Given the description of an element on the screen output the (x, y) to click on. 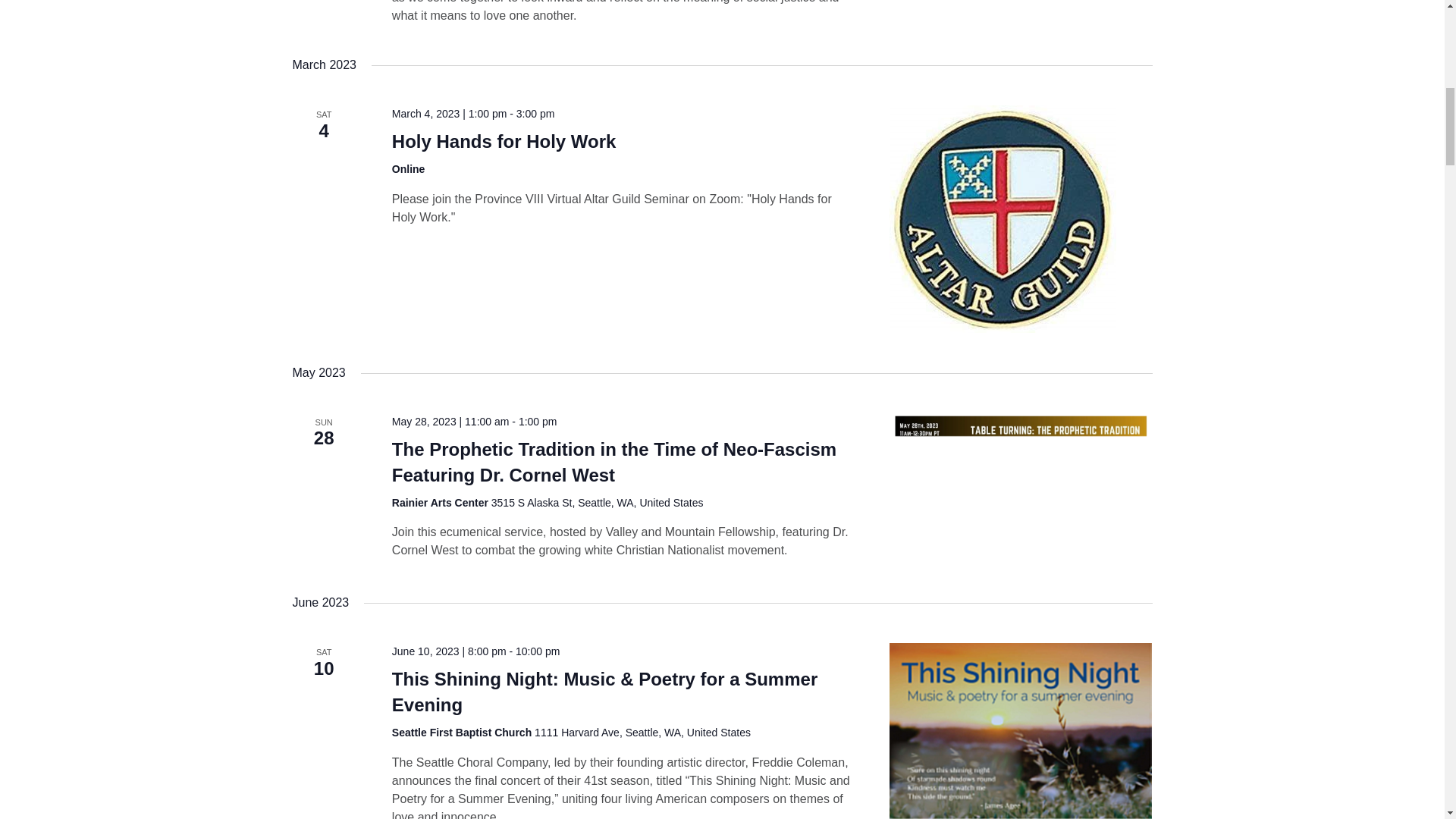
Holy Hands for Holy Work (503, 141)
Holy Hands for Holy Work (1020, 218)
